Given the description of an element on the screen output the (x, y) to click on. 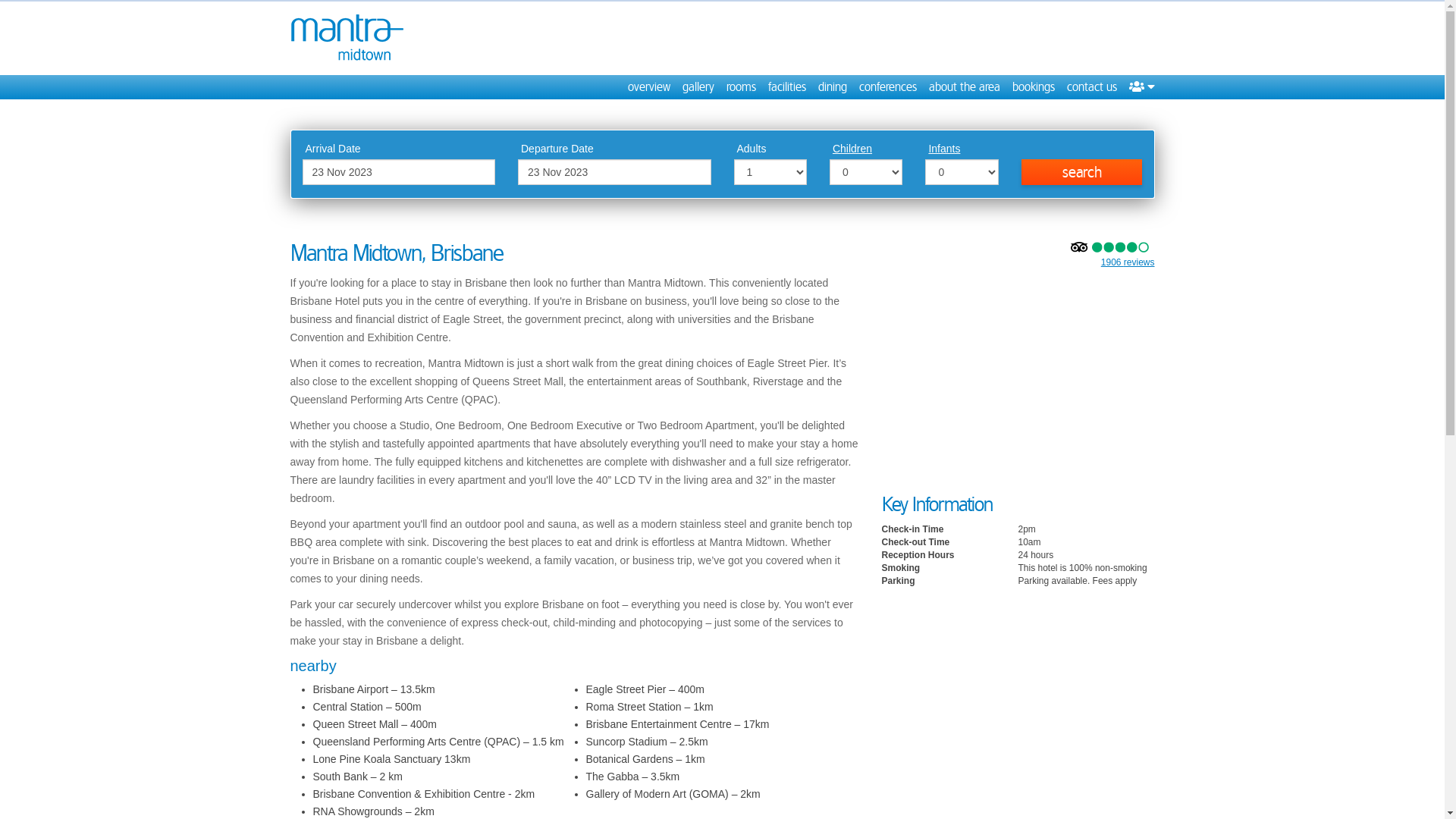
conferences Element type: text (887, 87)
dining Element type: text (831, 87)
rooms Element type: text (741, 87)
contact us Element type: text (1091, 87)
overview Element type: text (648, 87)
search Element type: text (1081, 172)
Mantra Midtown Element type: hover (346, 37)
gallery Element type: text (698, 87)
facilities Element type: text (786, 87)
about the area Element type: text (963, 87)
1906 reviews Element type: text (1127, 262)
bookings Element type: text (1032, 87)
